Given the description of an element on the screen output the (x, y) to click on. 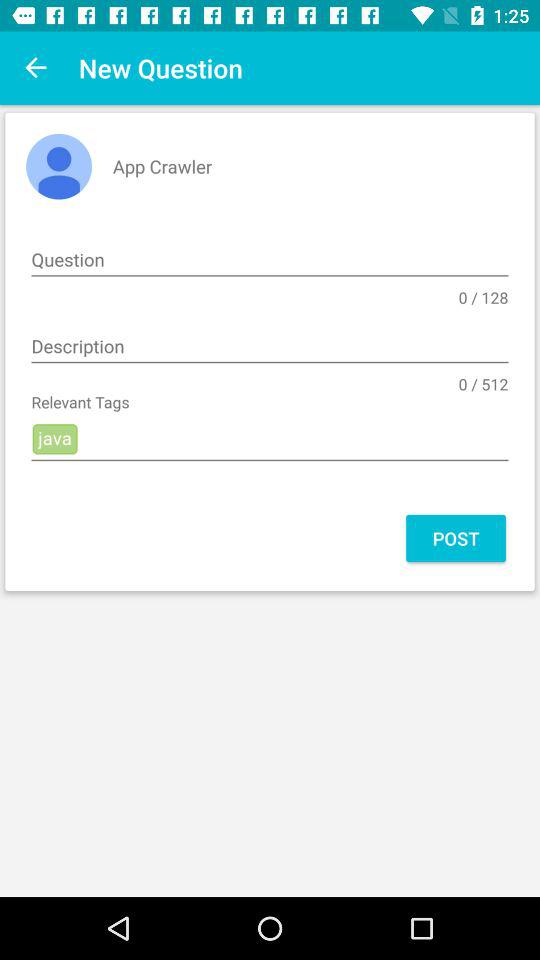
turn off the icon at the top (269, 260)
